Given the description of an element on the screen output the (x, y) to click on. 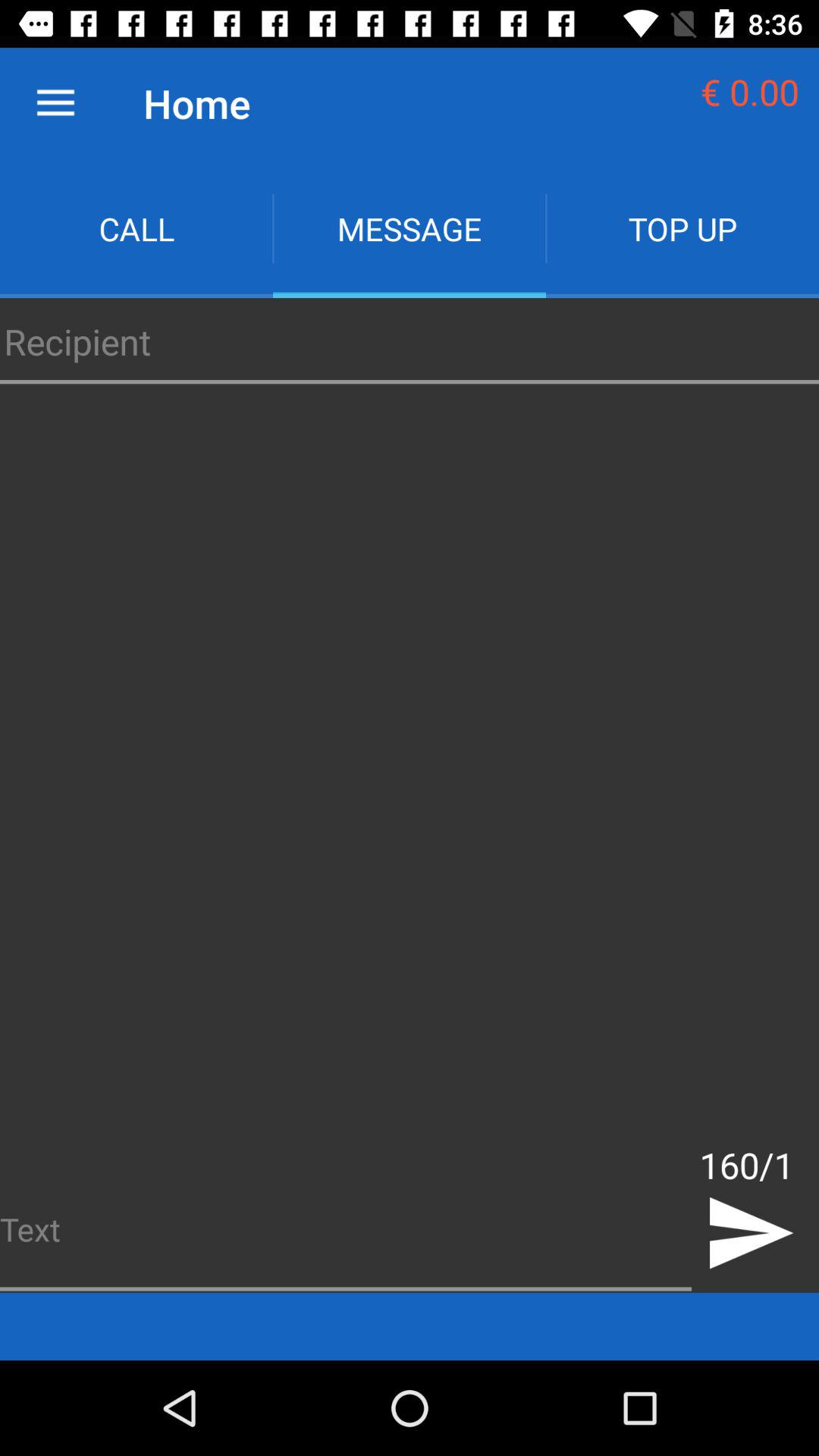
jump until the call app (136, 228)
